Given the description of an element on the screen output the (x, y) to click on. 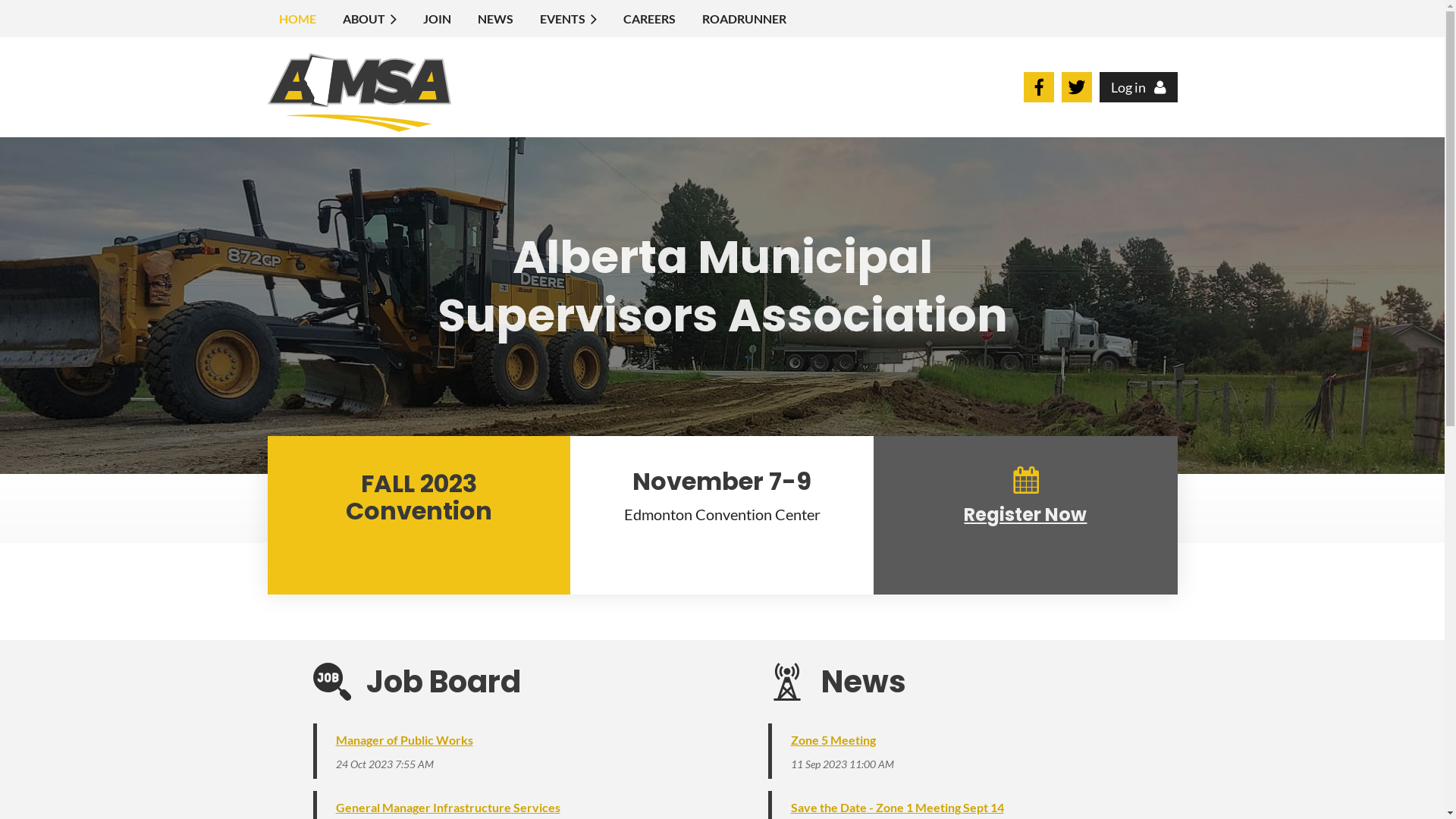
Click to go to AMSA's Facebook page Element type: hover (1038, 96)
Click to go to @AMSAPW on Twitter Element type: hover (1076, 96)
Zone 5 Meeting Element type: text (832, 739)
Register Now Element type: text (1024, 514)
Manager of Public Works Element type: text (403, 739)
ROADRUNNER Element type: text (745, 18)
General Manager Infrastructure Services Element type: text (447, 807)
ABOUT Element type: text (370, 18)
EVENTS Element type: text (569, 18)
Log in Element type: text (1138, 87)
NEWS Element type: text (496, 18)
Save the Date - Zone 1 Meeting Sept 14 Element type: text (896, 807)
HOME Element type: text (298, 18)
JOIN Element type: text (438, 18)
CAREERS Element type: text (650, 18)
